Given the description of an element on the screen output the (x, y) to click on. 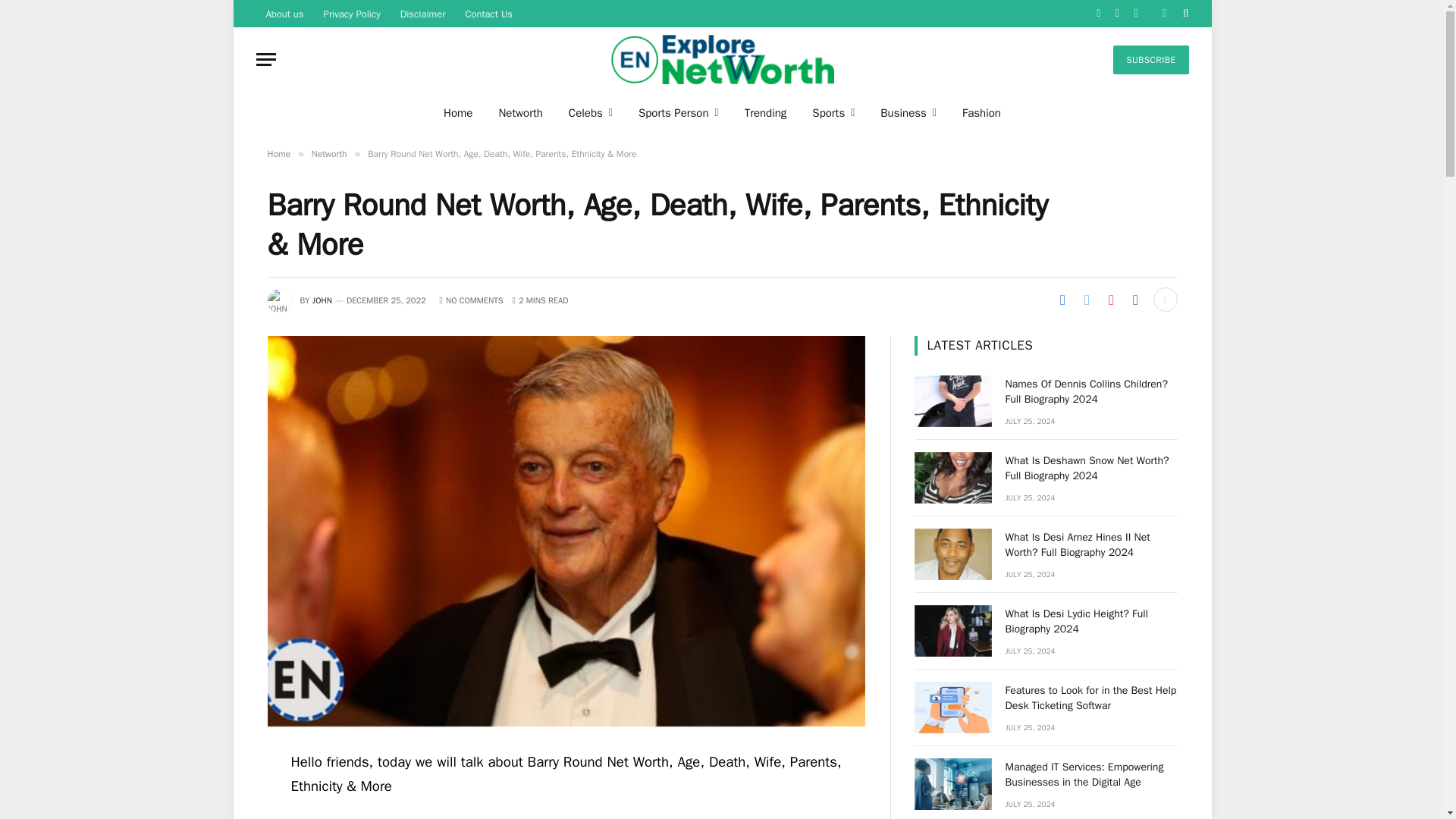
Contact Us (488, 13)
About us (285, 13)
Home (457, 112)
Sports Person (679, 112)
Disclaimer (422, 13)
Posts by John (322, 299)
Share on Pinterest (1110, 299)
Privacy Policy (352, 13)
Trending (765, 112)
Switch to Dark Design - easier on eyes. (1164, 13)
Share on Facebook (1062, 299)
SUBSCRIBE (1150, 59)
Sports (833, 112)
Networth (519, 112)
Explore Net Worth (722, 59)
